Given the description of an element on the screen output the (x, y) to click on. 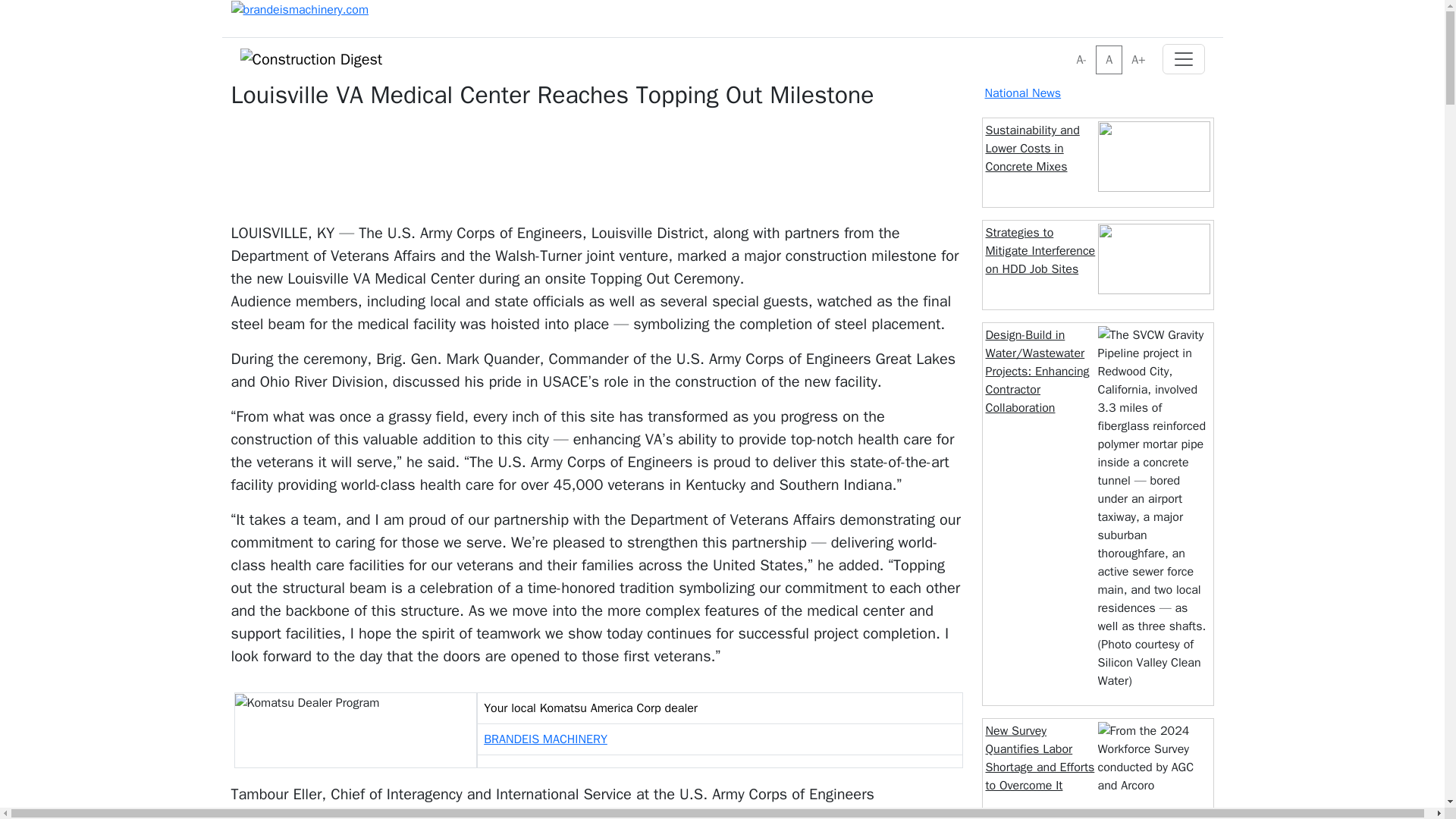
on (1070, 50)
Strategies to Mitigate Interference on HDD Job Sites (1040, 250)
Sustainability and Lower Costs in Concrete Mixes (1032, 148)
BRANDEIS MACHINERY (545, 739)
National News (1022, 92)
on (1070, 50)
on (1070, 50)
